Given the description of an element on the screen output the (x, y) to click on. 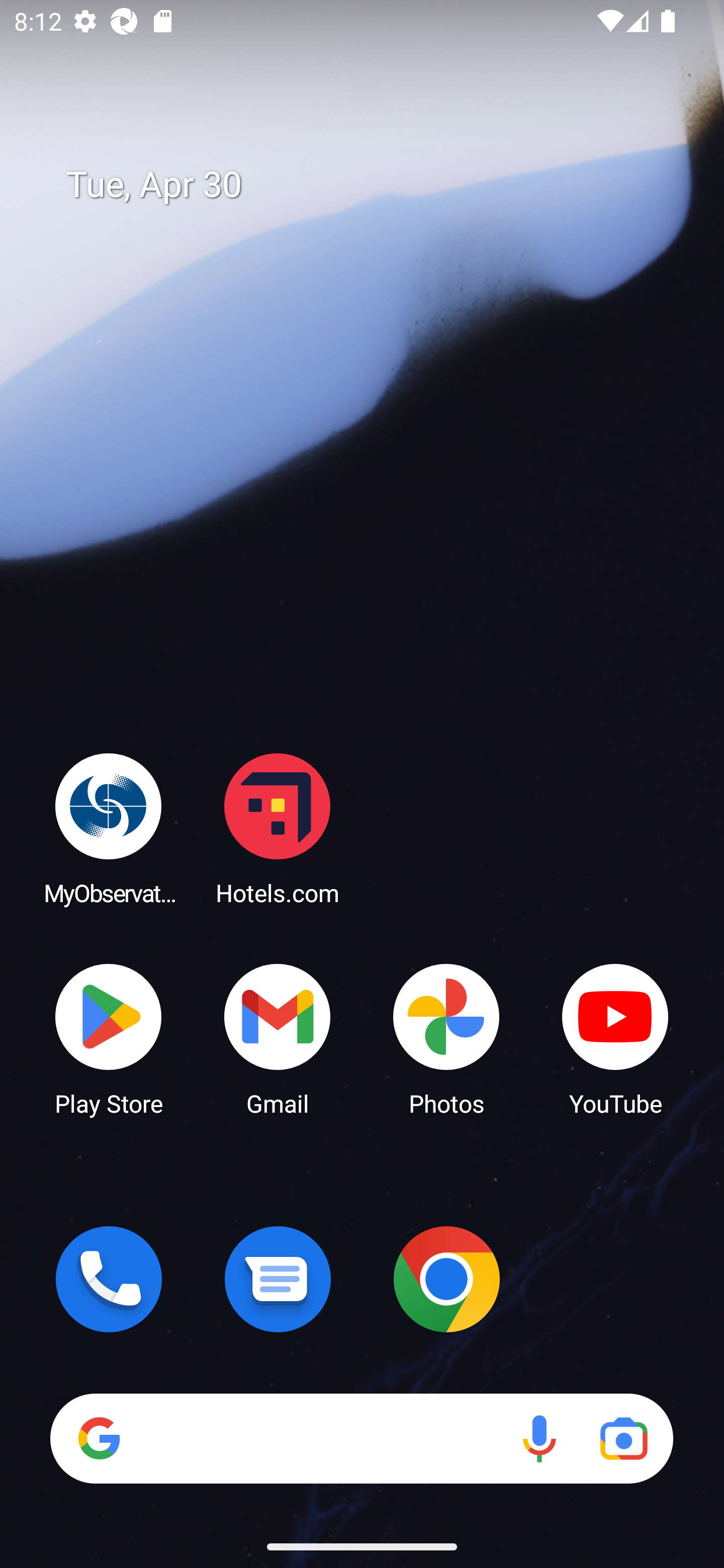
Tue, Apr 30 (375, 184)
MyObservatory (108, 828)
Hotels.com (277, 828)
Play Store (108, 1038)
Gmail (277, 1038)
Photos (445, 1038)
YouTube (615, 1038)
Phone (108, 1279)
Messages (277, 1279)
Chrome (446, 1279)
Voice search (539, 1438)
Google Lens (623, 1438)
